Given the description of an element on the screen output the (x, y) to click on. 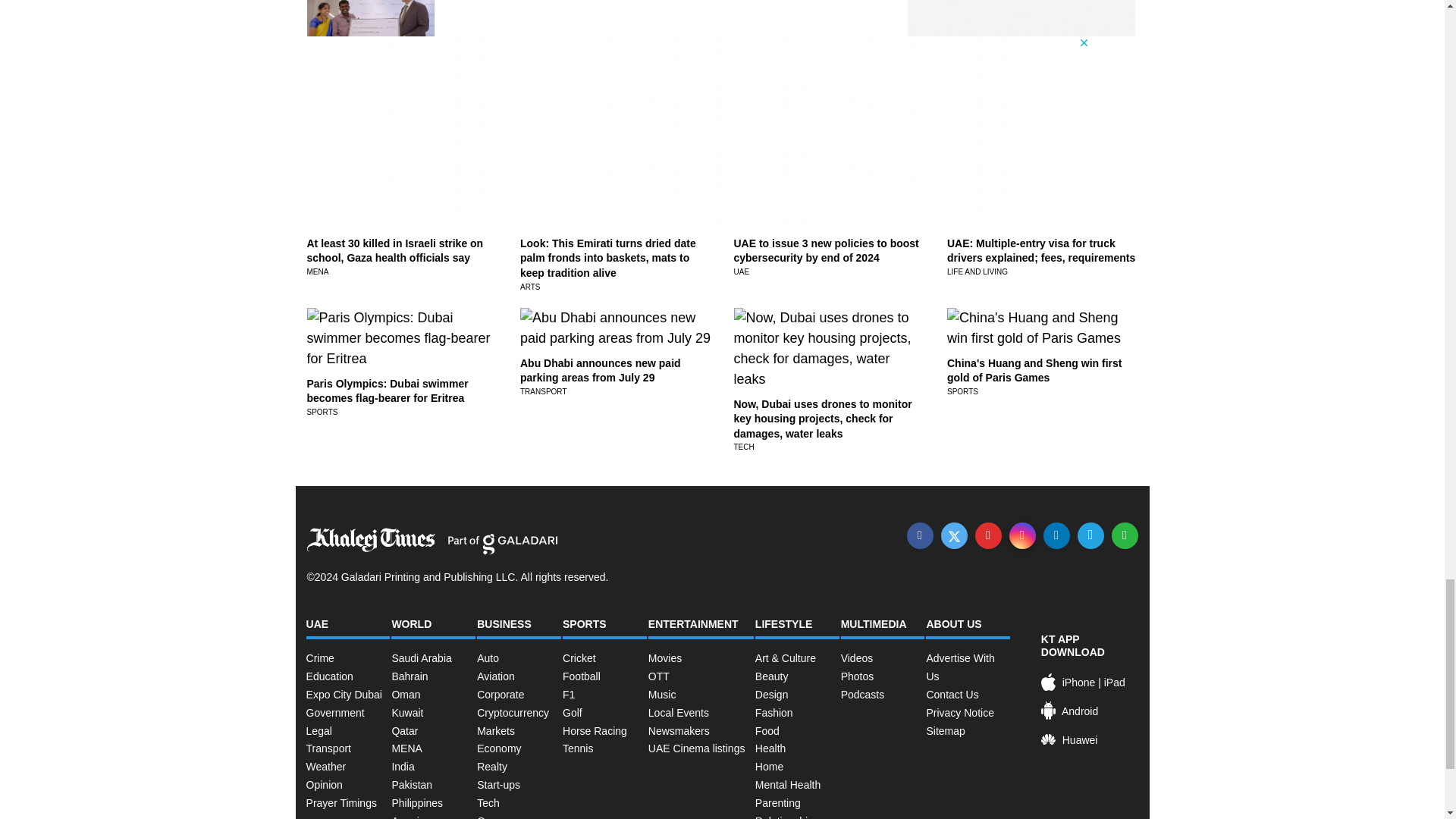
China's Huang and Sheng win first gold of Paris Games (1034, 370)
Abu Dhabi announces new paid parking areas from July 29 (600, 370)
